Given the description of an element on the screen output the (x, y) to click on. 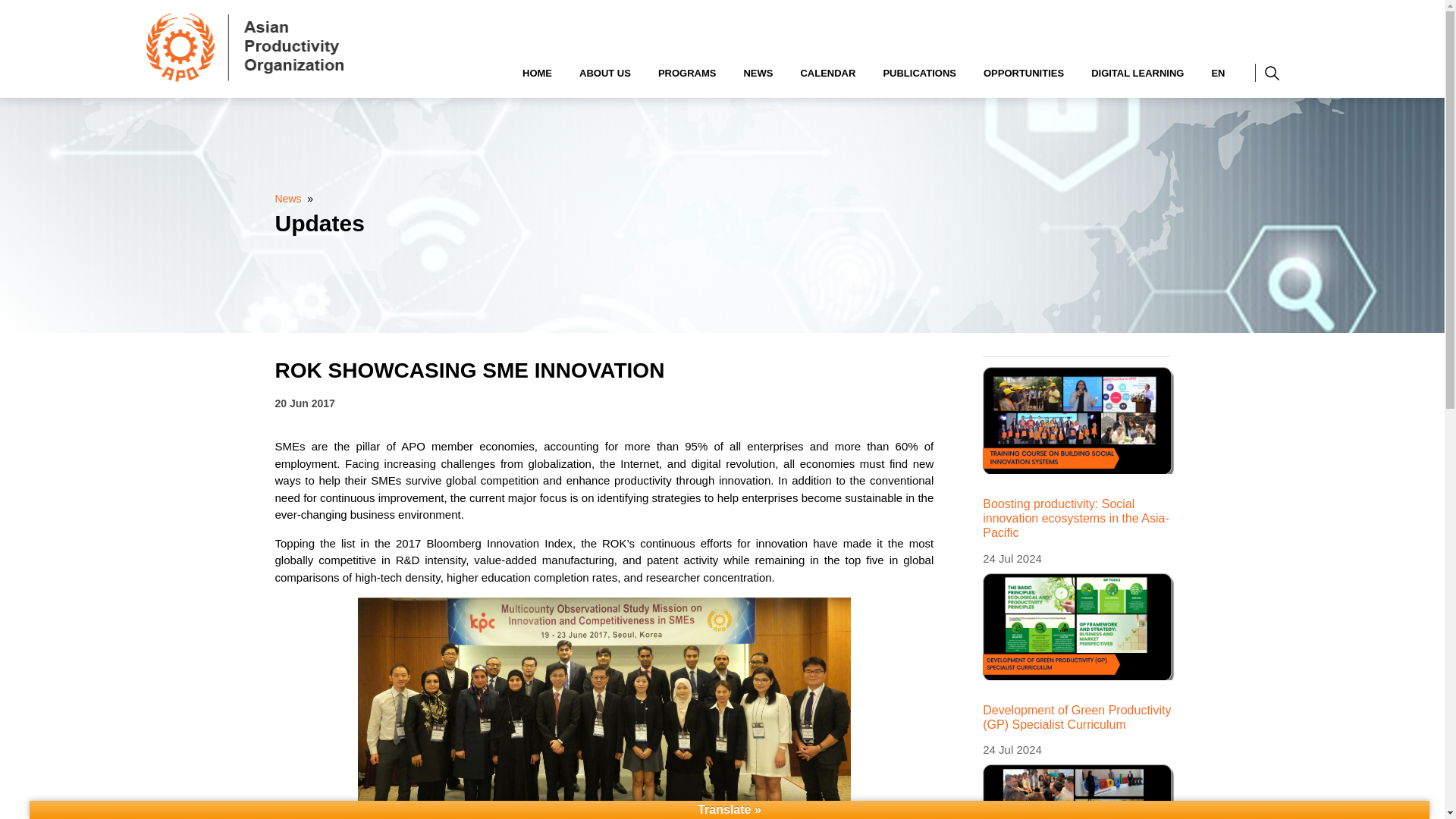
OPPORTUNITIES (1023, 73)
Development of Productivity Practitioners for the Youth (1077, 791)
PUBLICATIONS (918, 73)
PROGRAMS (687, 73)
ABOUT US (604, 73)
CALENDAR (827, 73)
DIGITAL LEARNING (1137, 73)
